Given the description of an element on the screen output the (x, y) to click on. 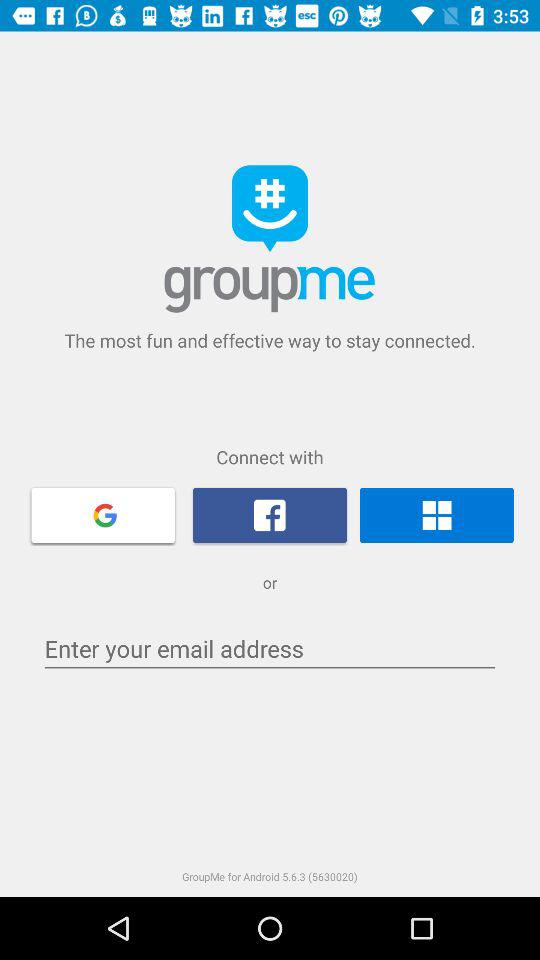
enter email address (269, 648)
